Given the description of an element on the screen output the (x, y) to click on. 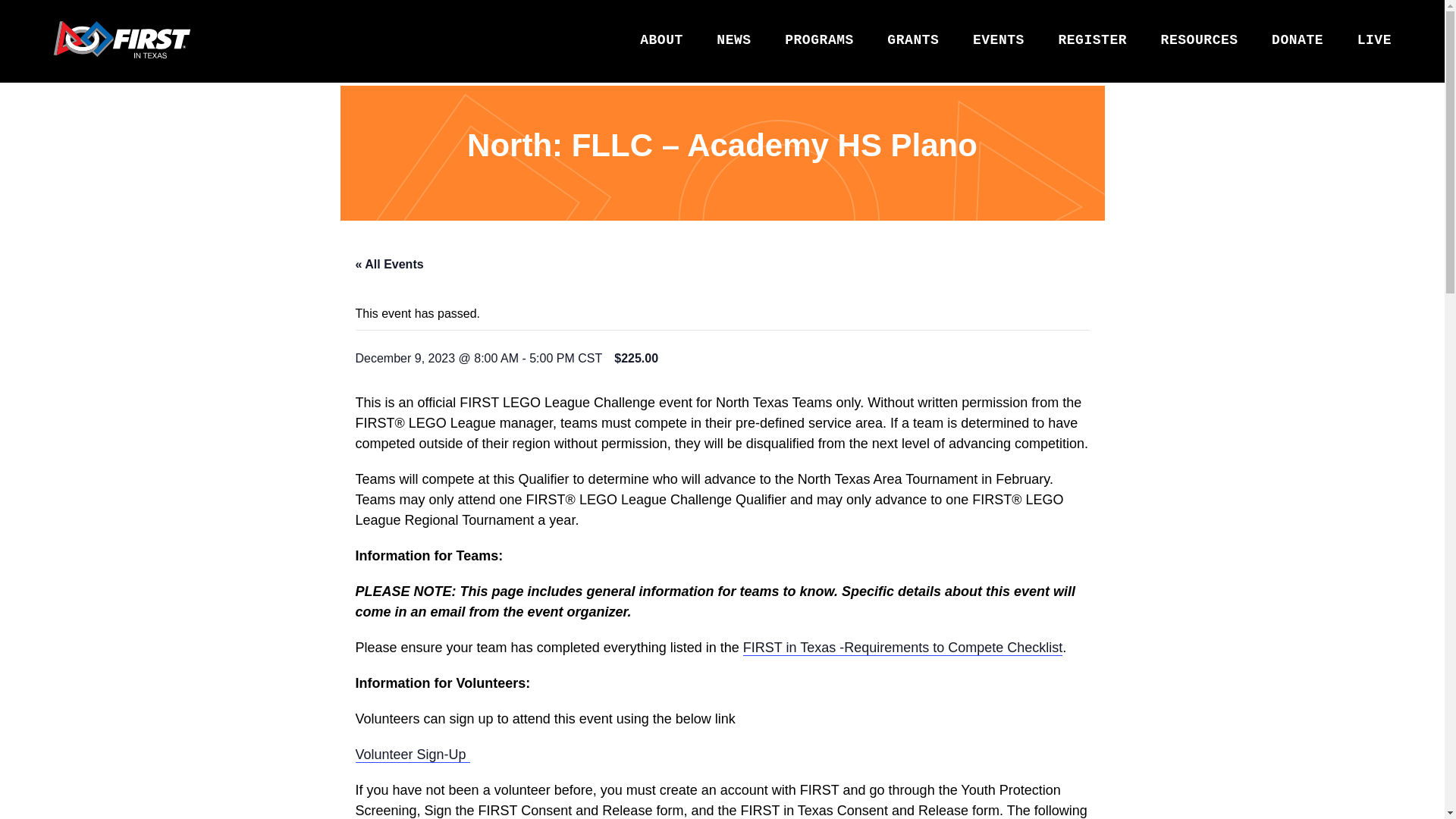
PROGRAMS (818, 41)
NEWS (733, 41)
GRANTS (912, 41)
ABOUT (661, 41)
